Given the description of an element on the screen output the (x, y) to click on. 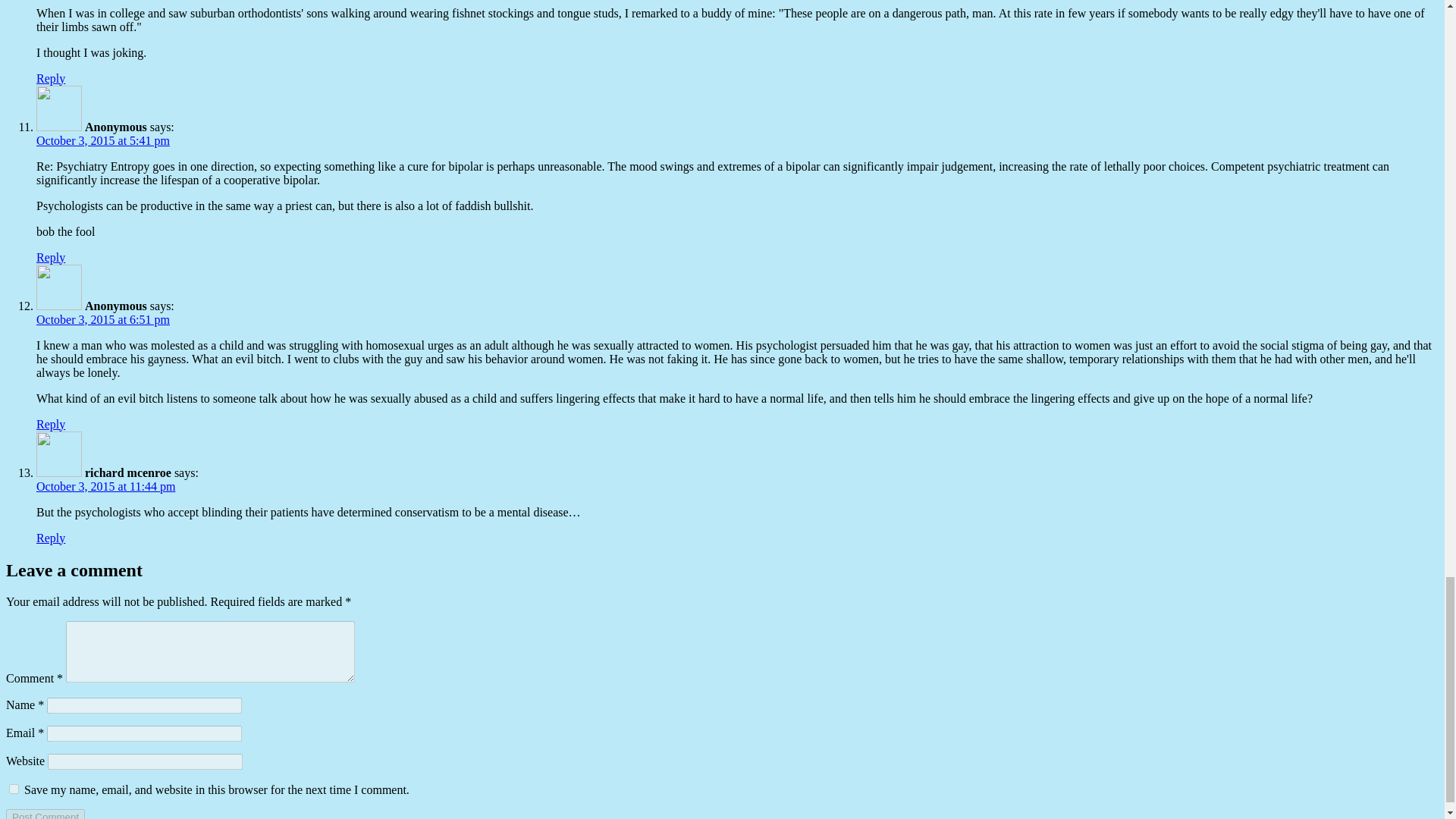
October 3, 2015 at 6:51 pm (103, 318)
October 3, 2015 at 11:44 pm (105, 486)
Reply (50, 256)
Reply (50, 78)
October 3, 2015 at 5:41 pm (103, 140)
yes (13, 788)
Reply (50, 423)
Reply (50, 537)
